Given the description of an element on the screen output the (x, y) to click on. 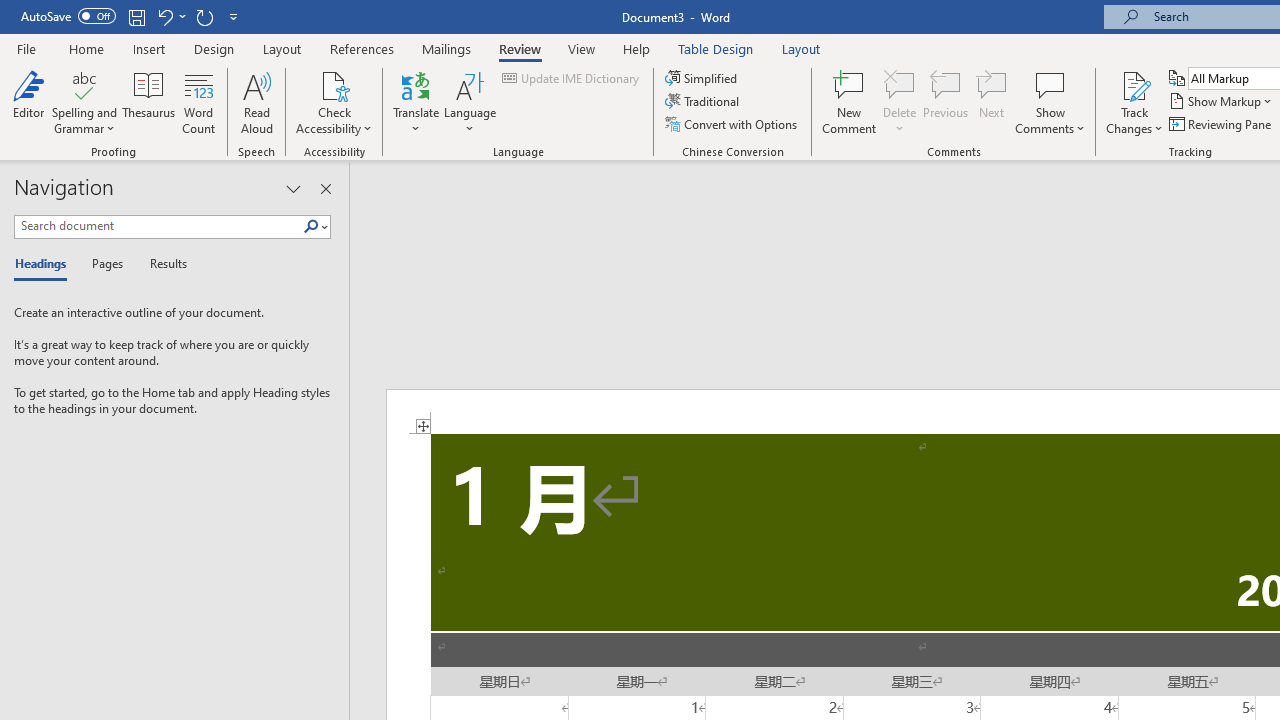
Spelling and Grammar (84, 84)
Track Changes (1134, 102)
Update IME Dictionary... (572, 78)
Thesaurus... (148, 102)
Convert with Options... (732, 124)
Reviewing Pane (1221, 124)
Delete (900, 102)
